Given the description of an element on the screen output the (x, y) to click on. 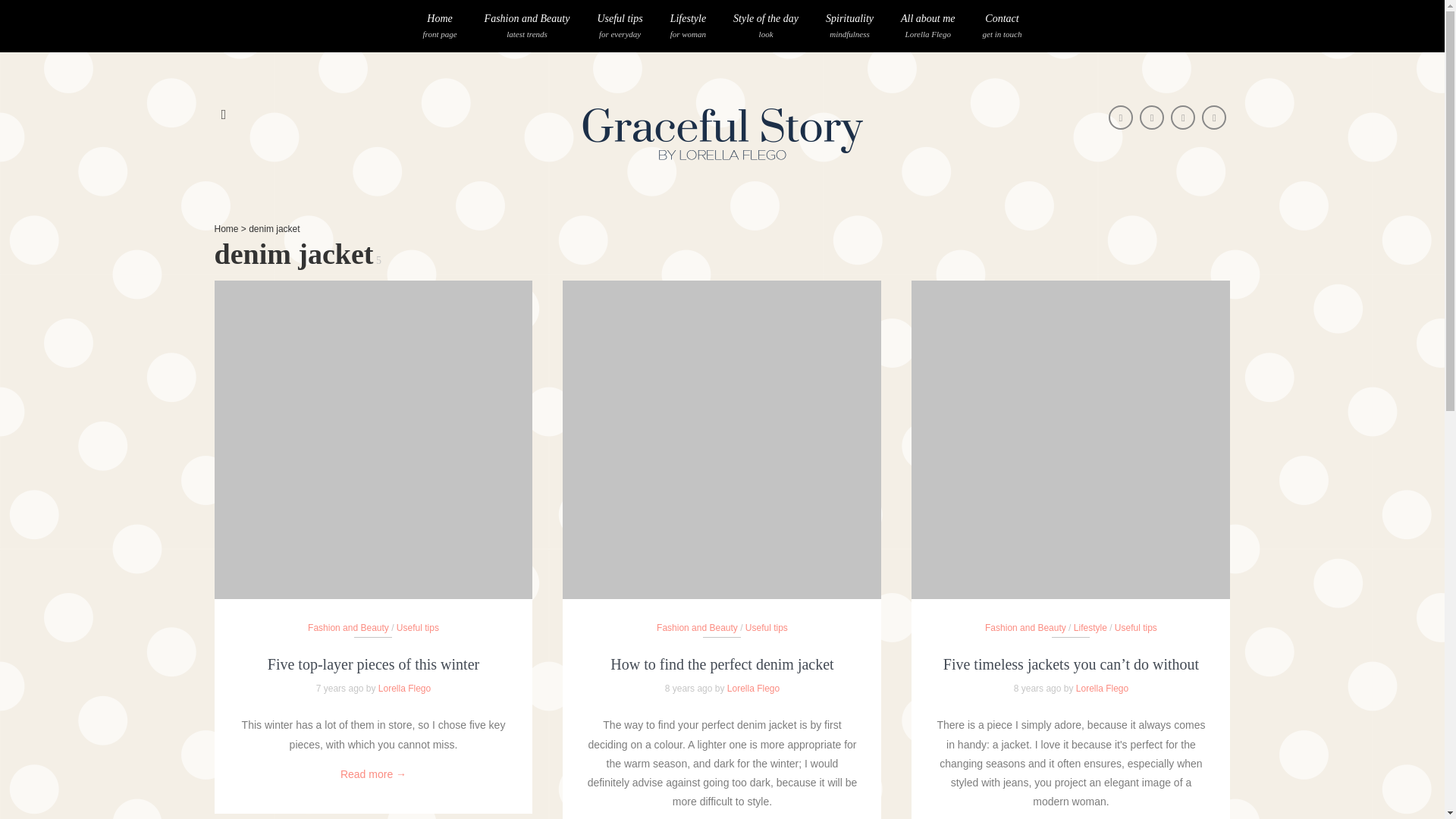
Home (1002, 26)
Five top-layer pieces of this winter (226, 228)
Lorella Flego (927, 26)
How to find the perfect denim jacket (619, 26)
Useful tips (687, 26)
Five top-layer pieces of this winter (373, 664)
